Given the description of an element on the screen output the (x, y) to click on. 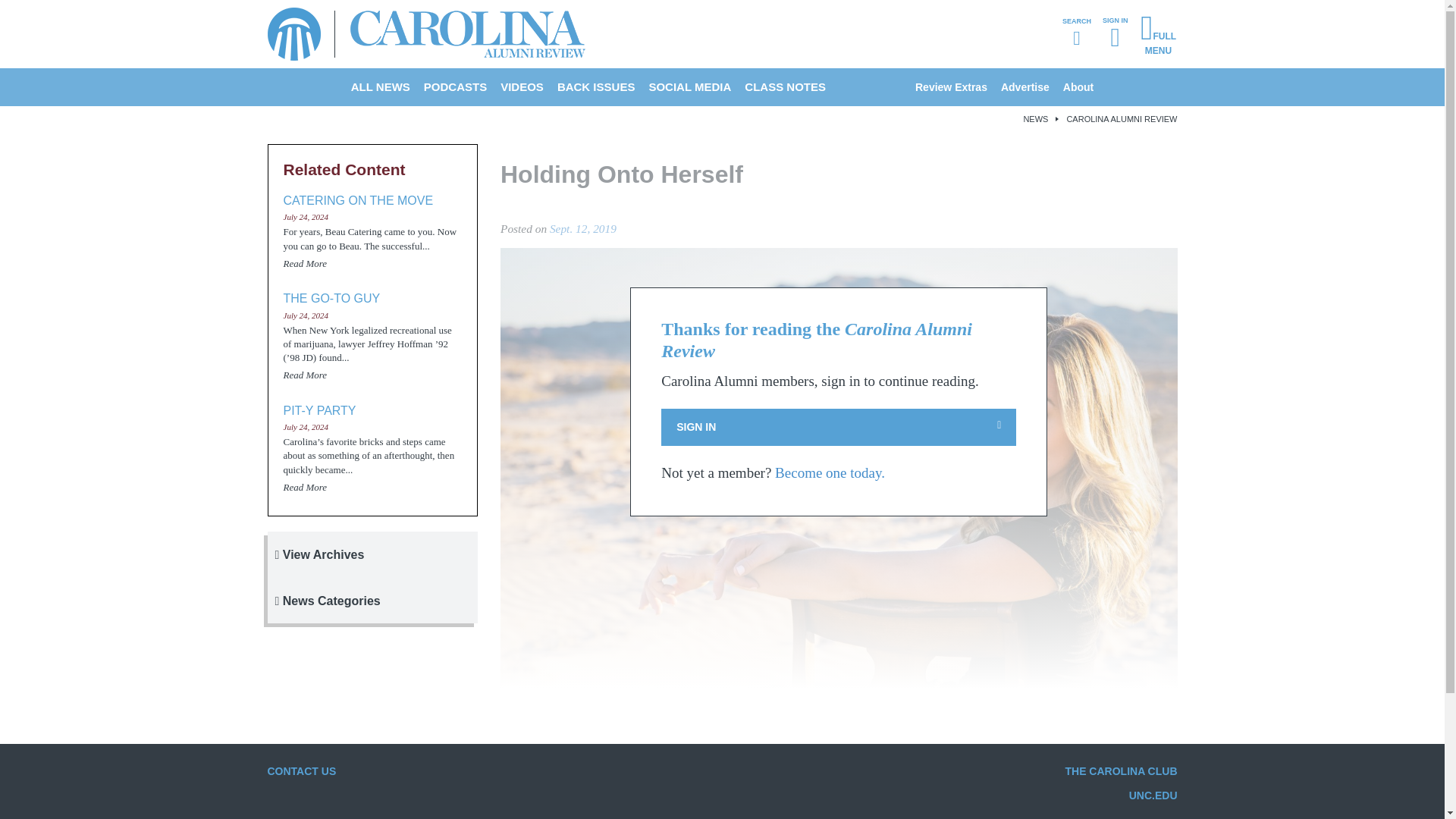
BACK ISSUES (596, 86)
Carolina Alumni (293, 33)
PODCASTS (454, 86)
About (1078, 86)
VIDEOS (521, 86)
UNC GAA Home (293, 33)
SOCIAL MEDIA (690, 86)
Review Extras (951, 86)
Advertise (1025, 86)
CLASS NOTES (785, 86)
